Given the description of an element on the screen output the (x, y) to click on. 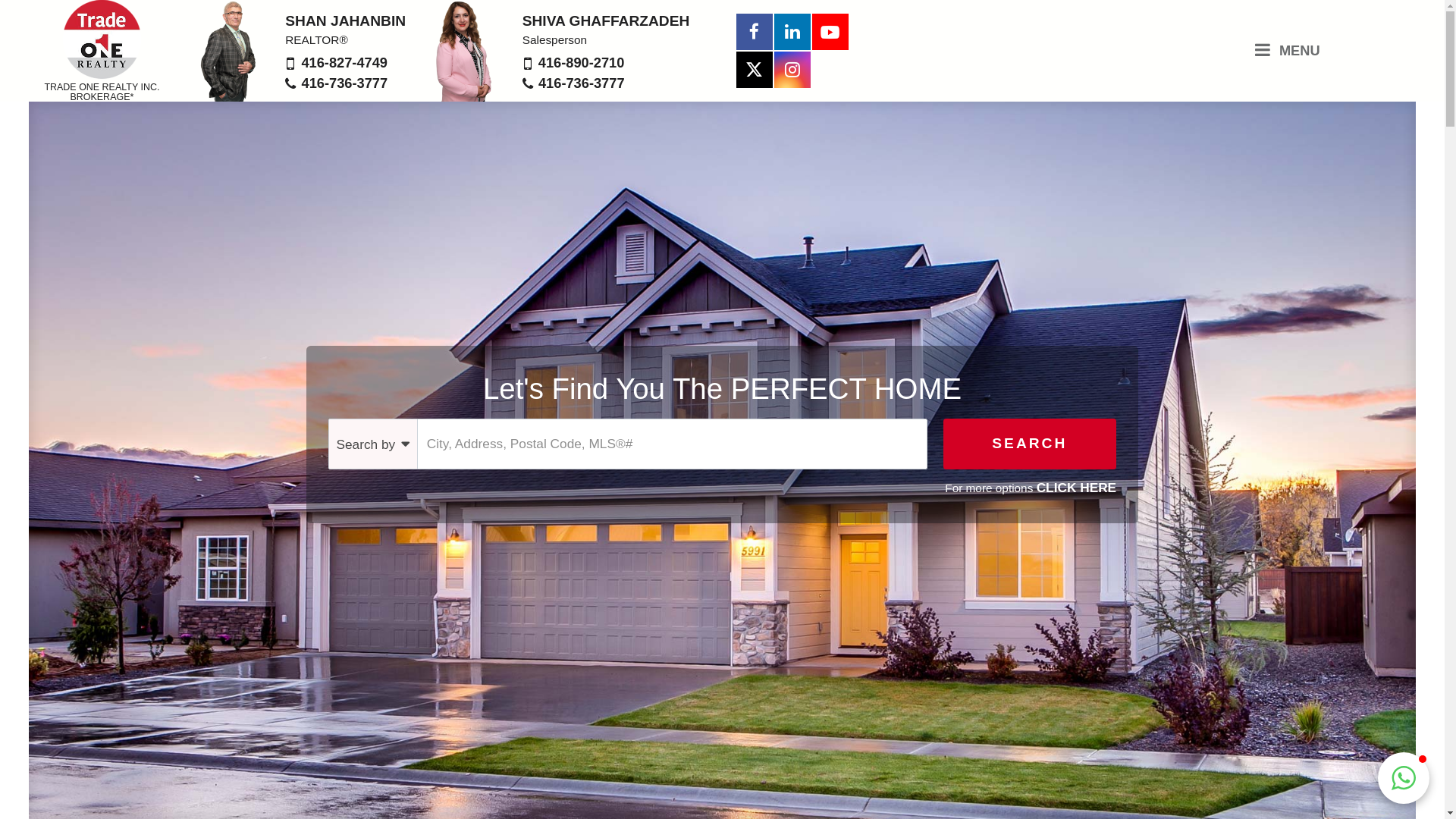
416-890-2710 Element type: text (581, 62)
TRADE ONE REALTY INC. BROKERAGE* Element type: text (101, 50)
CLICK HERE Element type: text (1076, 487)
416-736-3777 Element type: text (581, 83)
Search by Element type: text (372, 443)
416-736-3777 Element type: text (344, 83)
MENU Element type: text (1287, 50)
SEARCH Element type: text (1030, 443)
416-827-4749 Element type: text (344, 62)
